Given the description of an element on the screen output the (x, y) to click on. 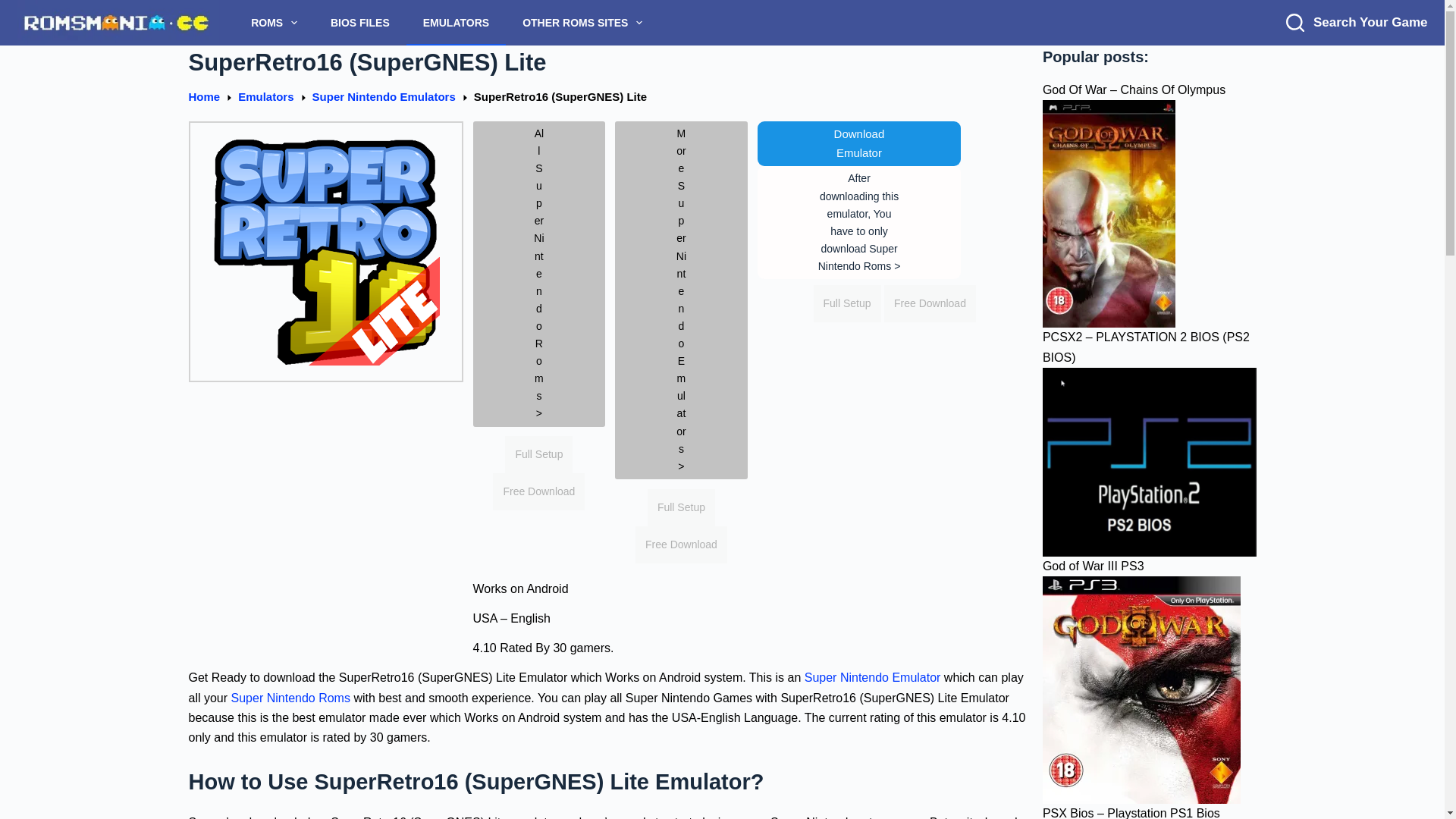
Super Nintendo Emulators (384, 97)
Full Setup (538, 454)
Skip to content (15, 7)
Full Setup Free Download (539, 472)
God of War III PS3 (1141, 689)
Home (203, 97)
OTHER ROMS SITES (582, 22)
ROMS (274, 22)
Emulators (266, 97)
Search Your Game (1355, 22)
BIOS FILES (360, 22)
Free Download (539, 491)
EMULATORS (455, 22)
God Of War - Chains Of Olympus (1108, 213)
